Given the description of an element on the screen output the (x, y) to click on. 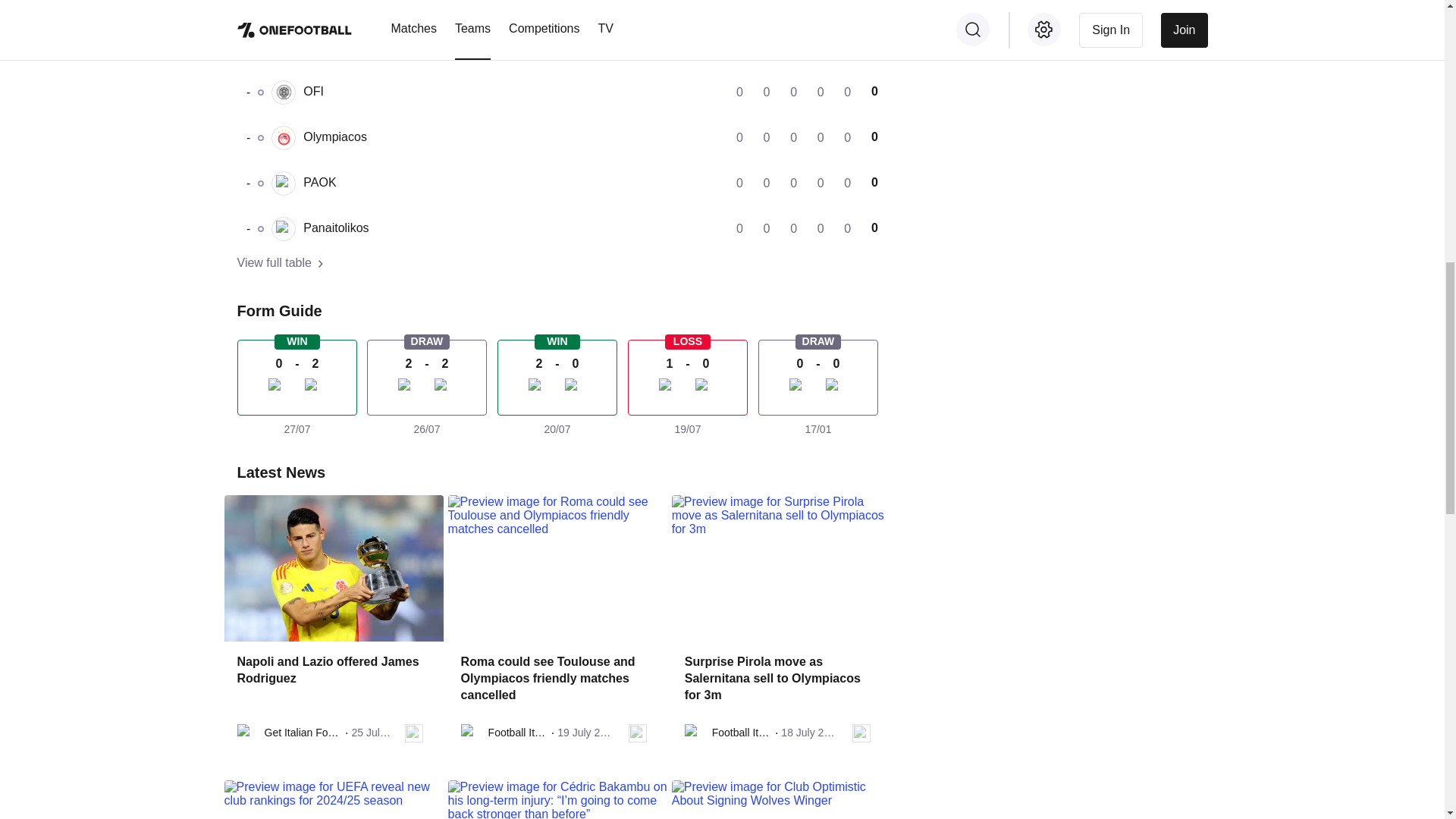
Napoli and Lazio offered James Rodriguez (556, 92)
Add to your bookmarks (332, 678)
Points (413, 733)
Games played (556, 137)
Goals difference (556, 183)
View full table (556, 228)
